Given the description of an element on the screen output the (x, y) to click on. 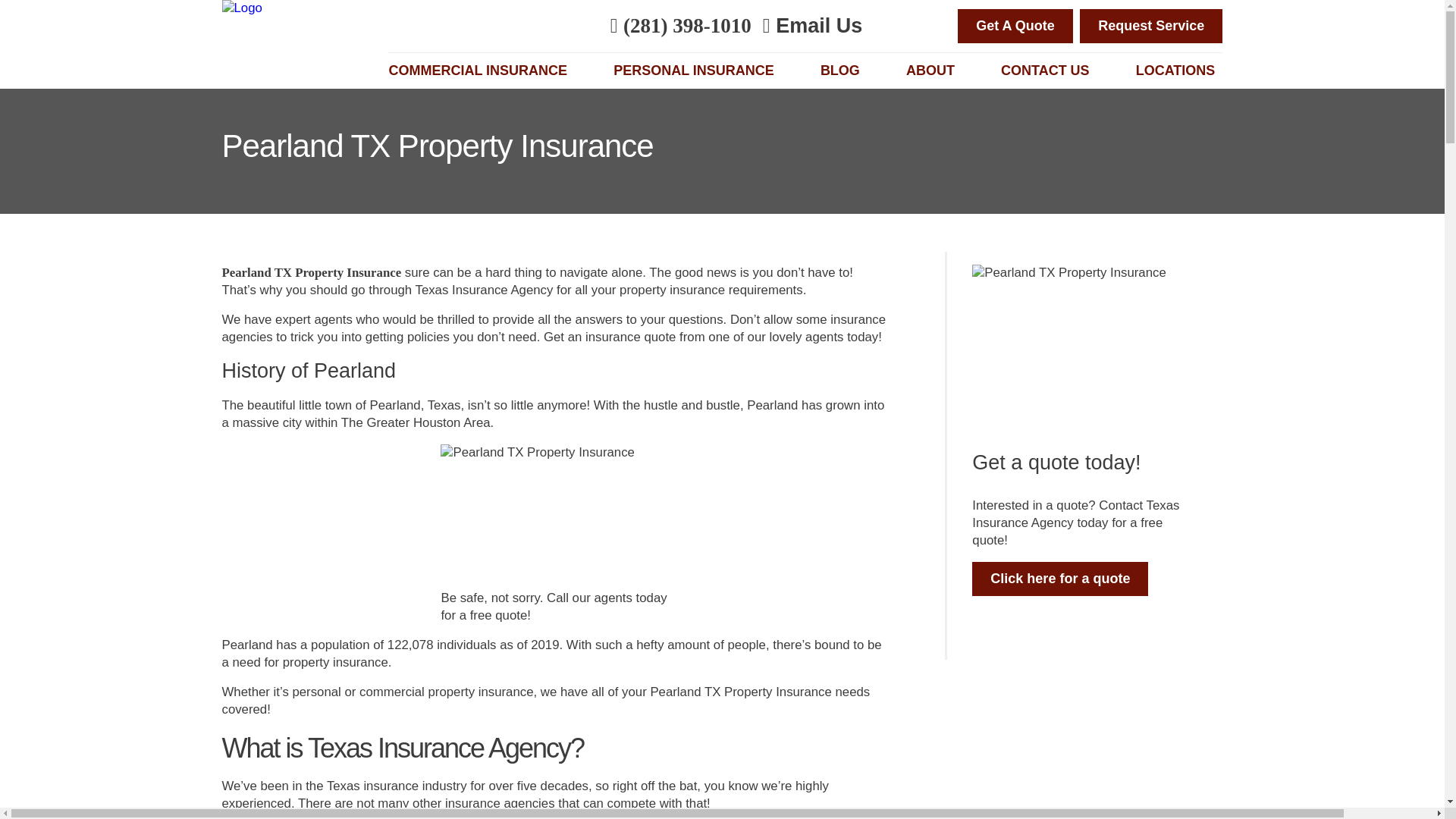
Email Us (811, 25)
BLOG (844, 70)
CONTACT US (1049, 70)
LOCATIONS (1179, 70)
Get A Quote (1015, 26)
PERSONAL INSURANCE (696, 70)
Pearland TX Property Insurance (311, 272)
Request Service (1151, 26)
COMMERCIAL INSURANCE (481, 70)
ABOUT (933, 70)
